Given the description of an element on the screen output the (x, y) to click on. 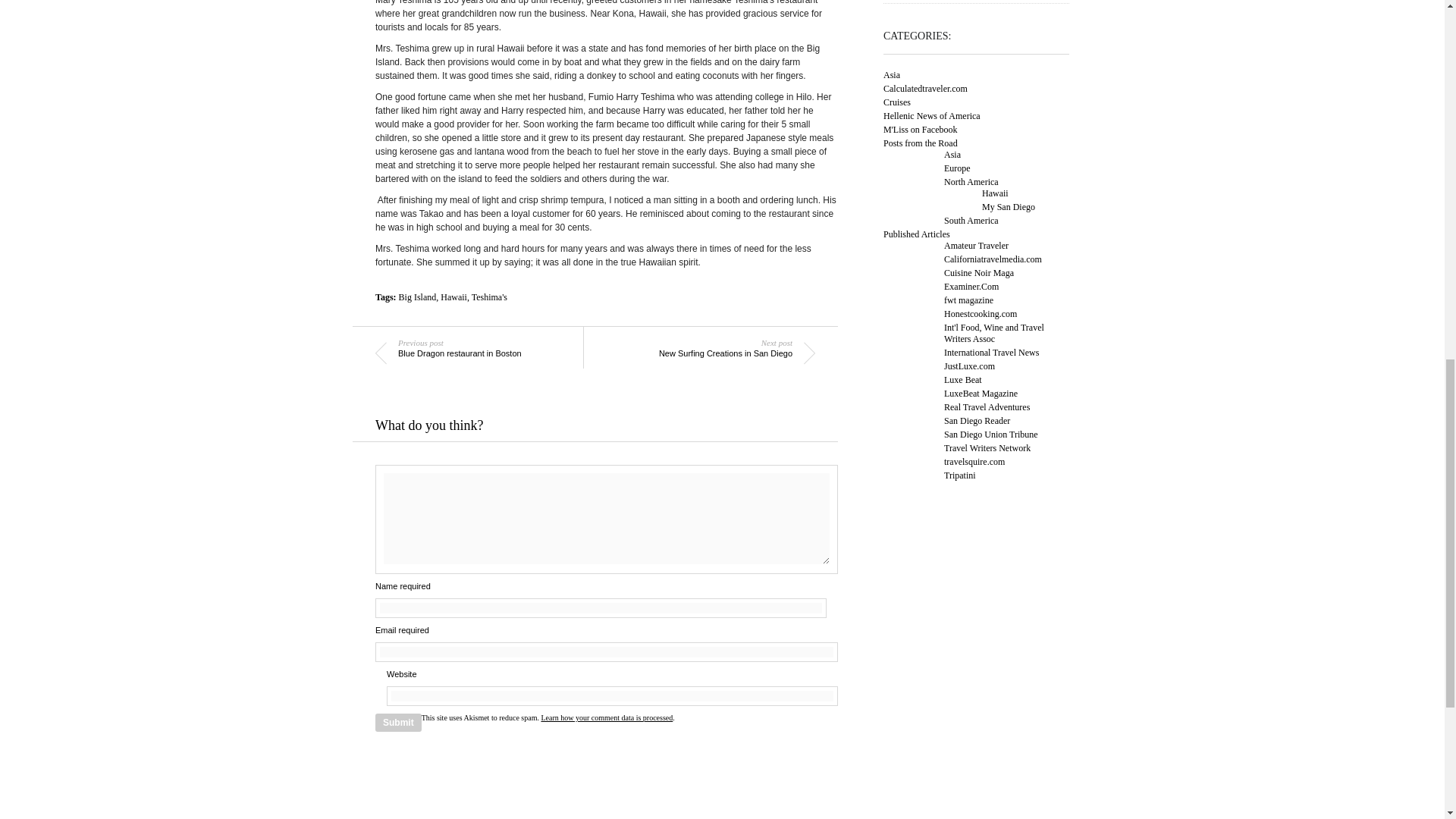
Hawaii (454, 296)
Submit (398, 722)
Asia (891, 74)
Big Island (417, 296)
Submit (720, 353)
Teshima's (398, 722)
Kealakekua, HI (488, 296)
Learn how your comment data is processed (469, 353)
